Given the description of an element on the screen output the (x, y) to click on. 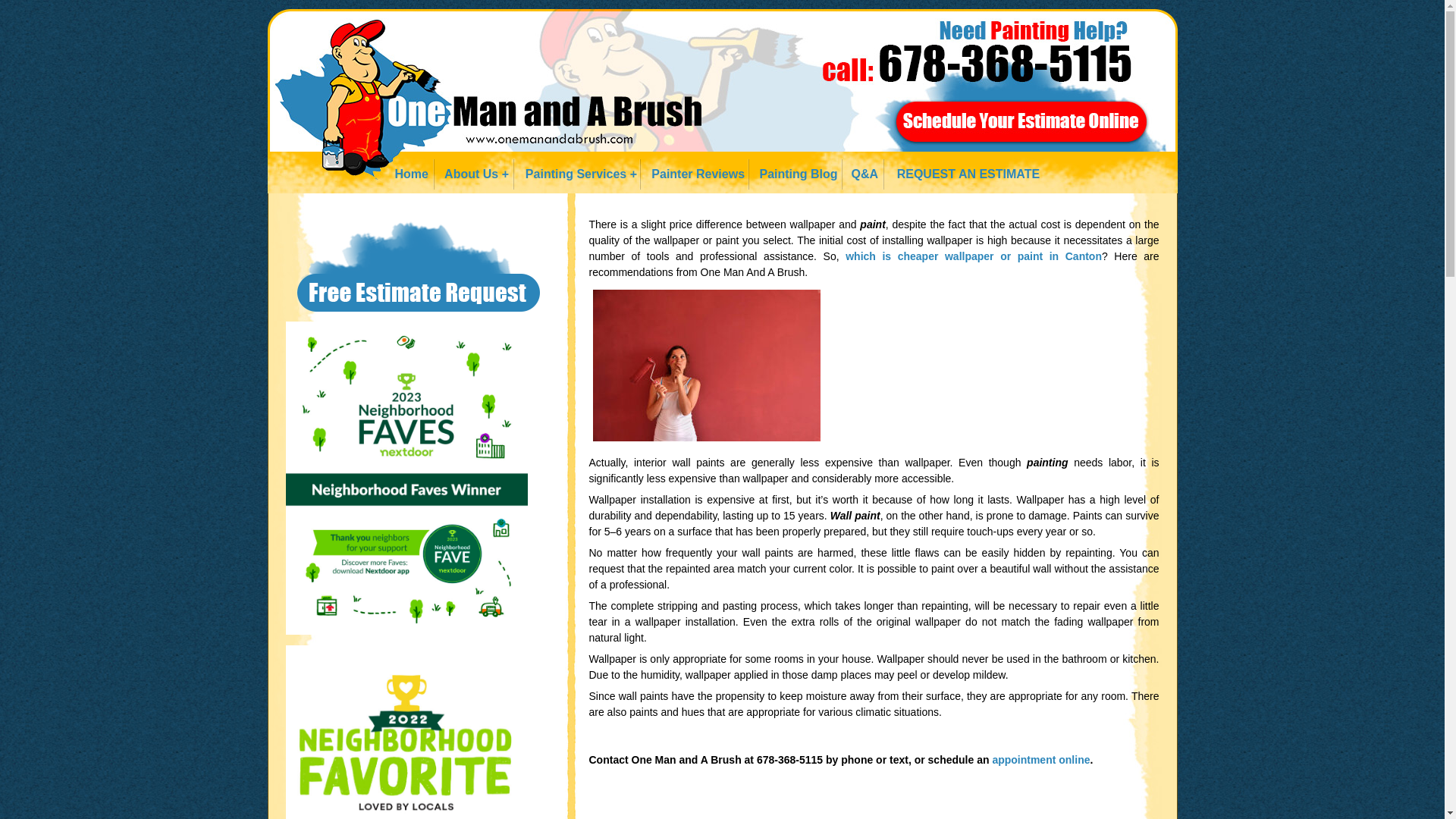
which is cheaper wallpaper or paint in Canton (973, 256)
Painting Blog (795, 174)
Painter Reviews (694, 174)
appointment online (1040, 759)
Home (409, 174)
REQUEST AN ESTIMATE (963, 174)
